Given the description of an element on the screen output the (x, y) to click on. 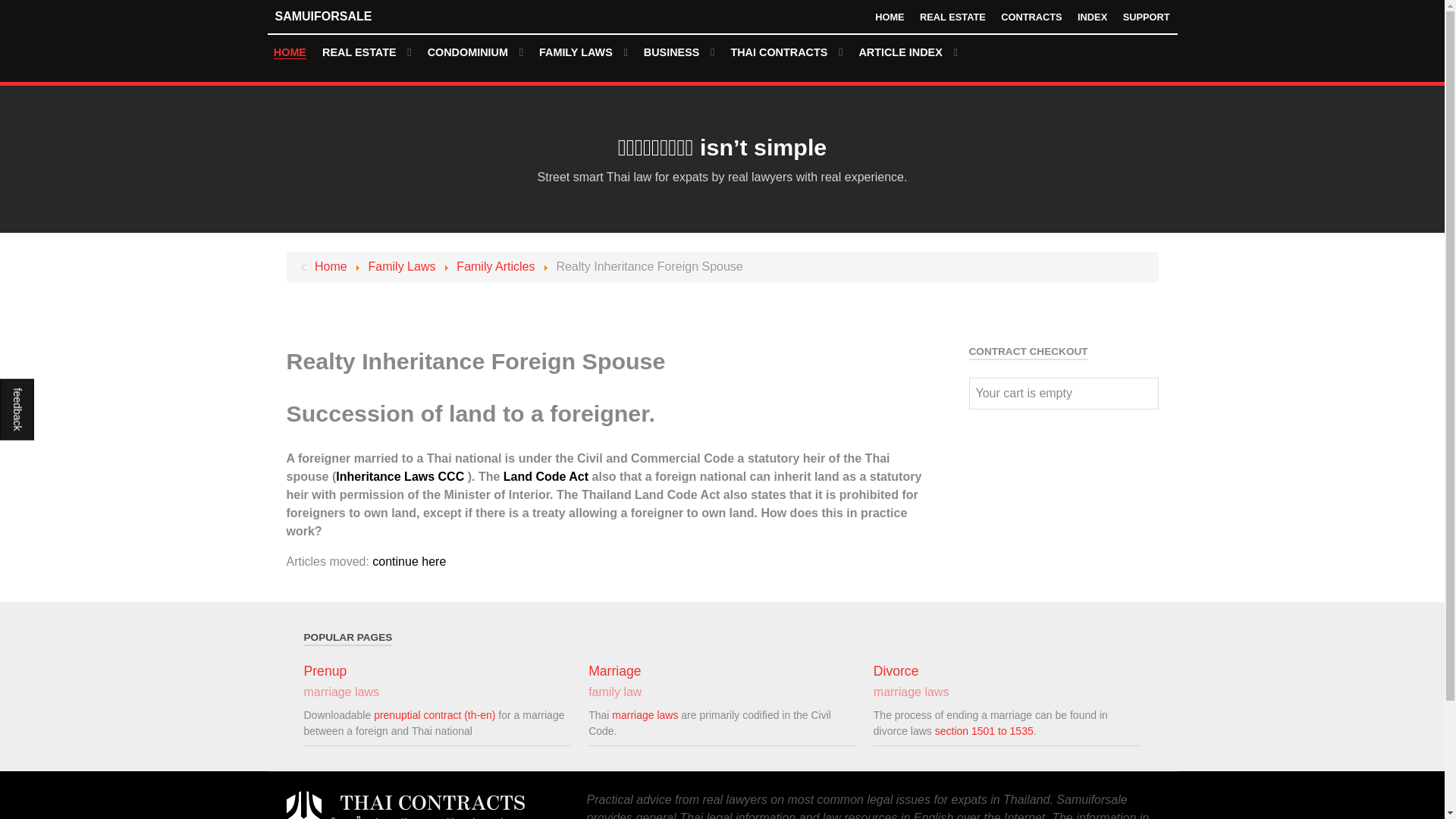
support (1146, 16)
real estate (952, 16)
index (1091, 16)
SUPPORT (1146, 16)
REAL ESTATE (952, 16)
intro Thai property law (367, 52)
CONTRACTS (1031, 16)
buying and owning (475, 52)
SAMUIFORSALE (380, 16)
SAMUIFORSALE (380, 16)
